Given the description of an element on the screen output the (x, y) to click on. 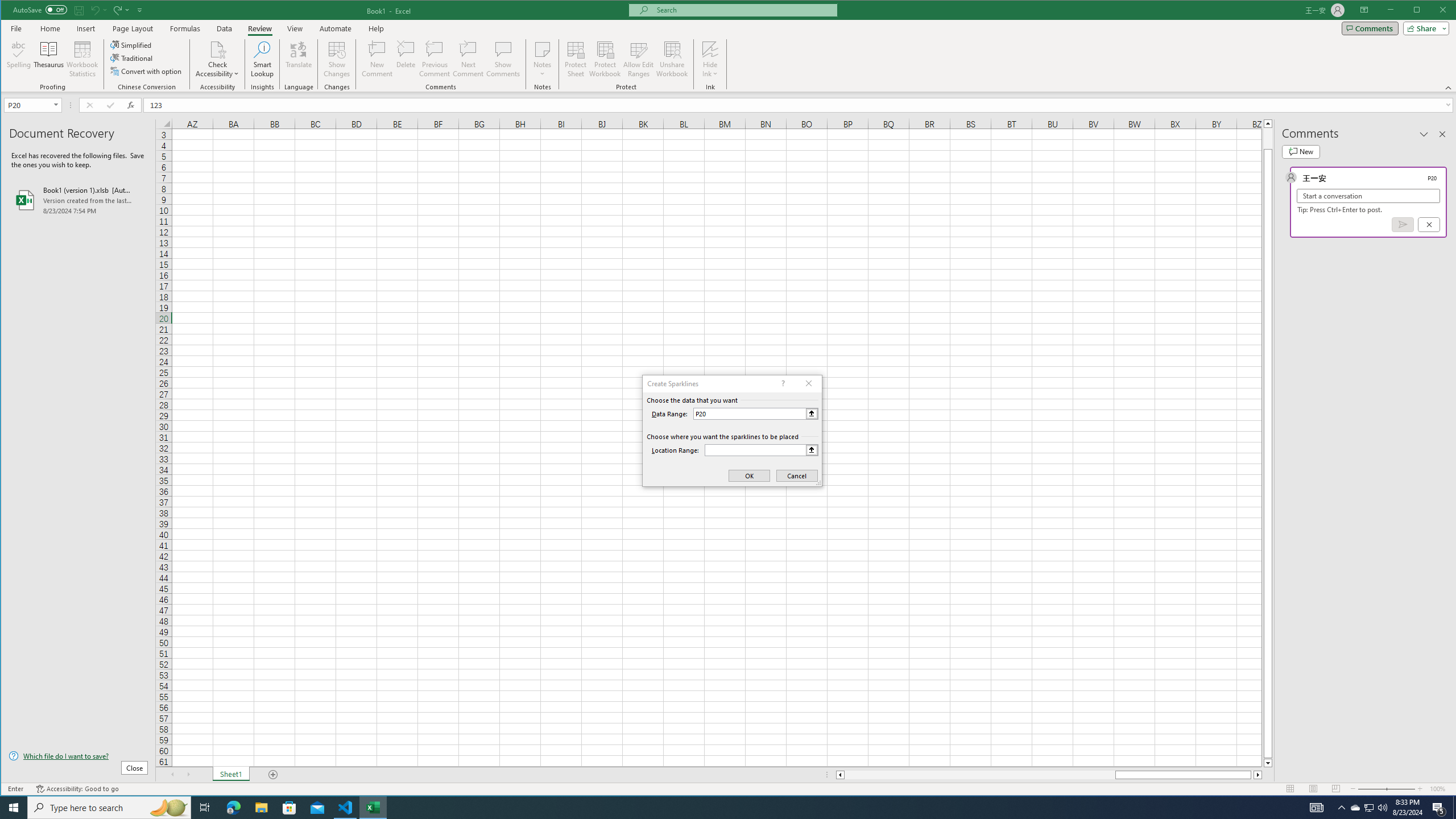
Accessibility Checker Accessibility: Good to go (77, 788)
Class: MsoCommandBar (728, 45)
Data (224, 28)
Post comment (Ctrl + Enter) (1402, 224)
Show Changes (335, 59)
Translate (298, 59)
Sheet1 (230, 774)
